Given the description of an element on the screen output the (x, y) to click on. 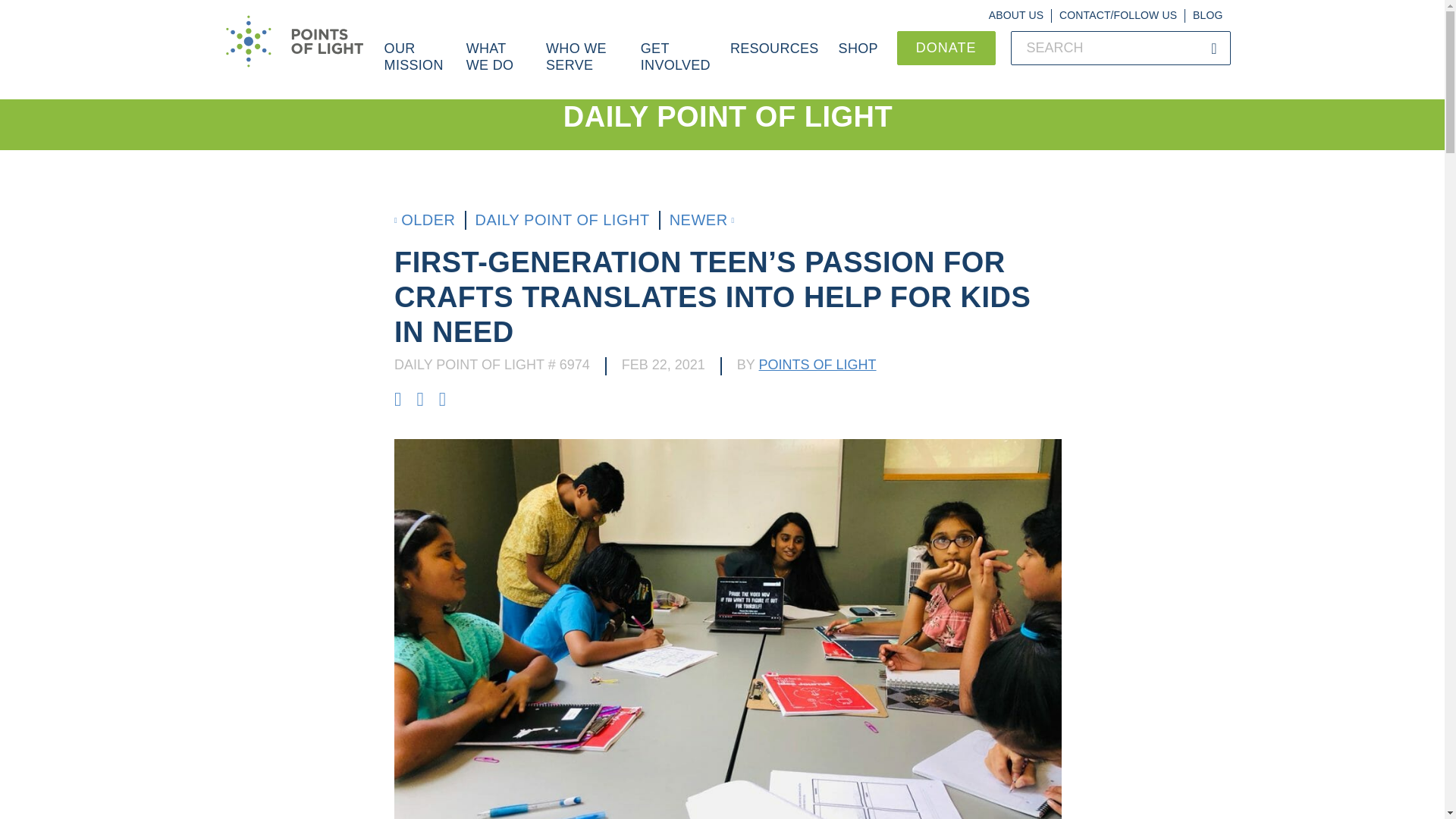
OUR MISSION (415, 65)
WHAT WE DO (496, 65)
BLOG (1207, 15)
WHO WE SERVE (582, 65)
ABOUT US (1016, 15)
